Given the description of an element on the screen output the (x, y) to click on. 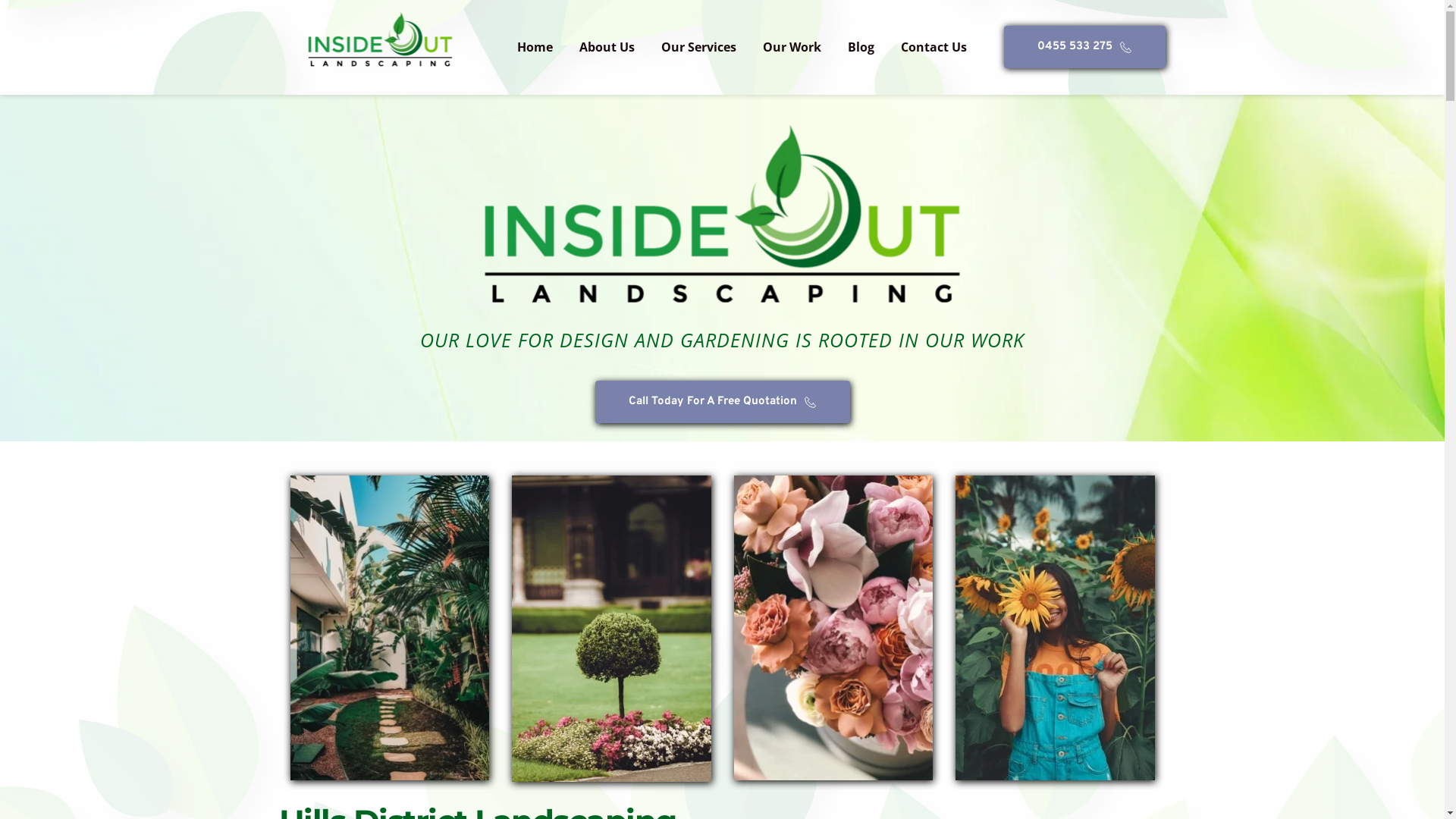
Call Today For A Free Quotation Element type: text (721, 401)
Our Work Element type: text (792, 46)
Contact Us Element type: text (933, 46)
0455 533 275 Element type: text (1084, 46)
Home Element type: text (534, 46)
About Us Element type: text (606, 46)
Our Services Element type: text (698, 46)
Blog Element type: text (861, 46)
